Given the description of an element on the screen output the (x, y) to click on. 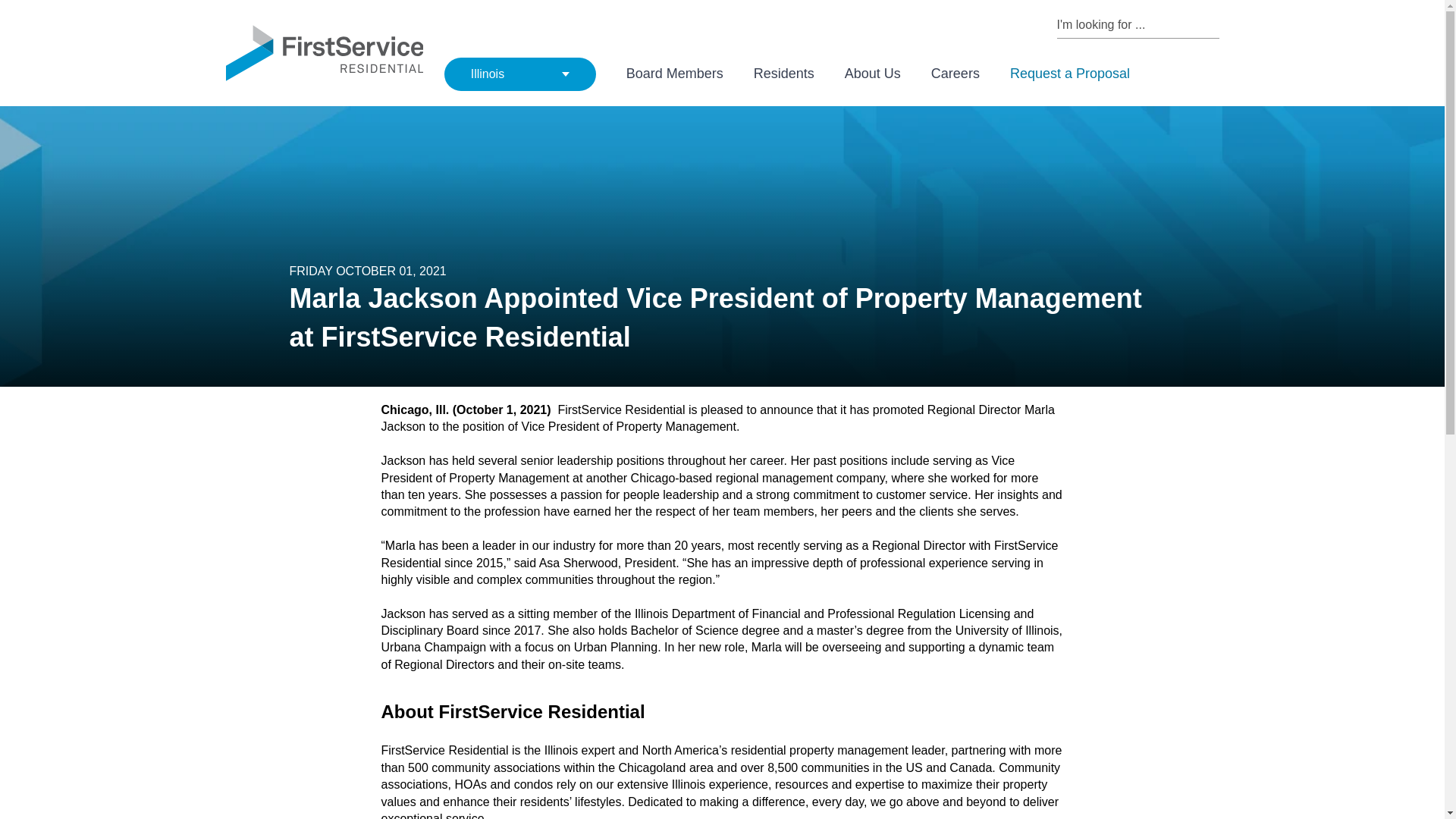
Submit search (1212, 24)
Illinois (519, 73)
Board Members (674, 73)
